Given the description of an element on the screen output the (x, y) to click on. 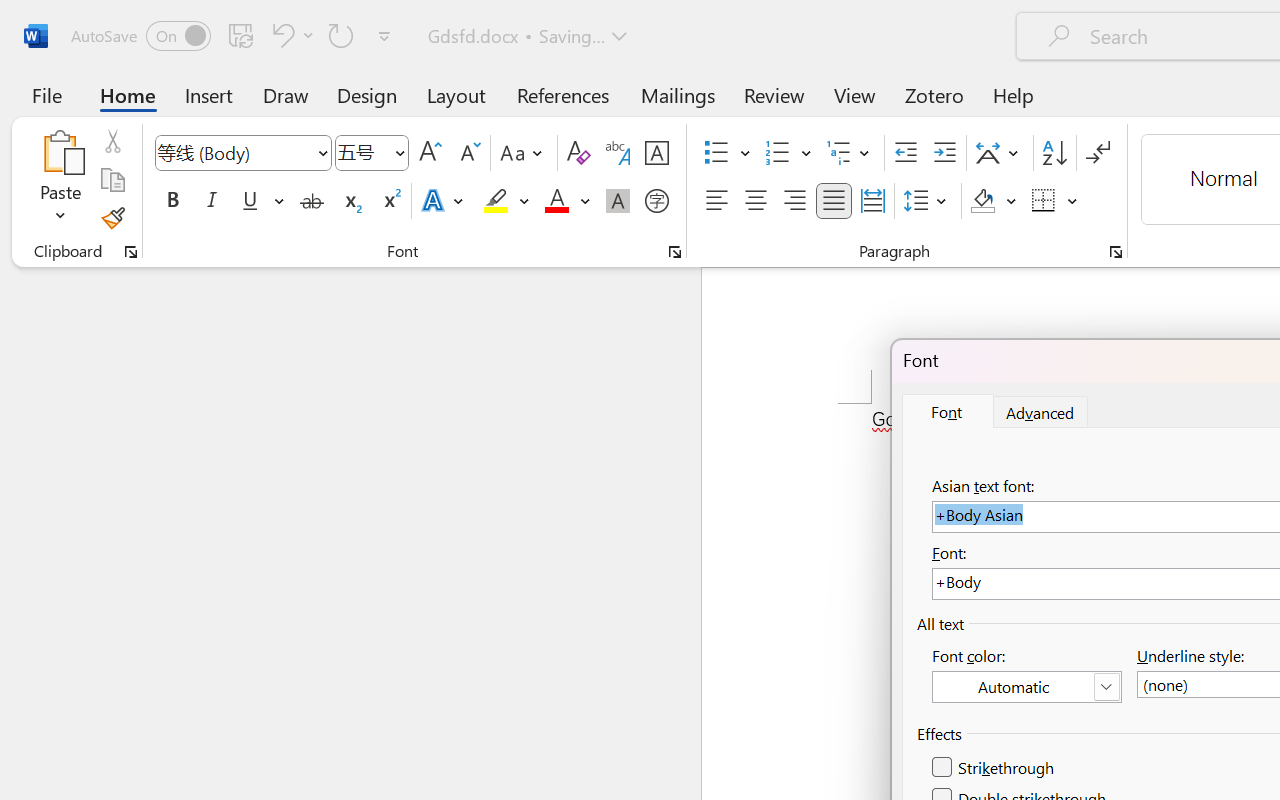
Line and Paragraph Spacing (927, 201)
Clear Formatting (578, 153)
Font... (675, 252)
Undo Style (280, 35)
Increase Indent (944, 153)
Strikethrough (312, 201)
Shading (993, 201)
Subscript (350, 201)
Align Right (794, 201)
